Given the description of an element on the screen output the (x, y) to click on. 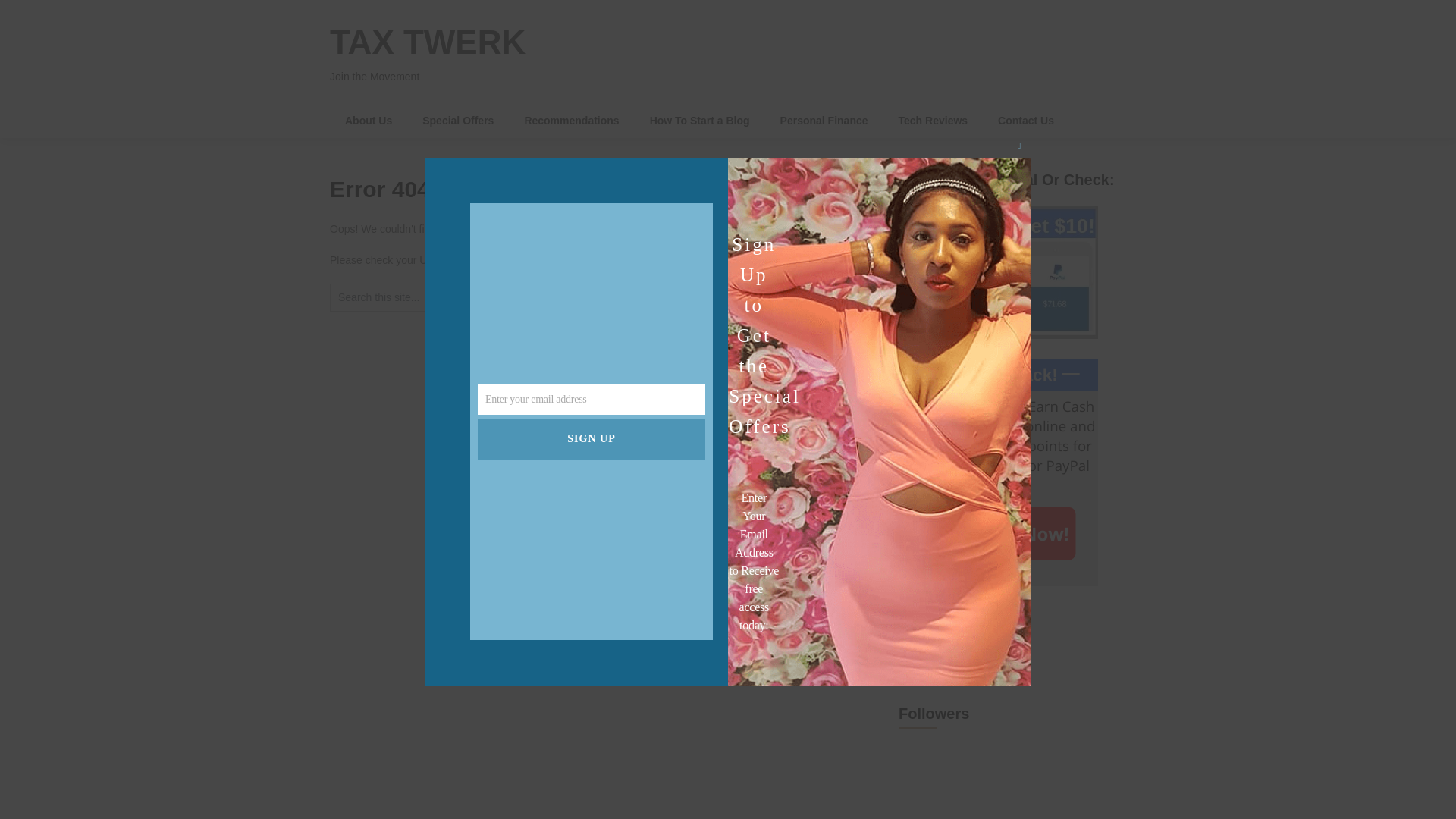
Contact Us (1025, 121)
TAX TWERK (427, 41)
About Us (368, 121)
Search this site... (520, 297)
Personal Finance (824, 121)
Search (792, 297)
Tech Reviews (933, 121)
Recommendations (570, 121)
Personal Finance (824, 121)
How To Start a Blog (699, 121)
How To Start a Blog (699, 121)
Recommendations (570, 121)
Best Selling Products (953, 644)
Search (792, 297)
Tech Reviews (933, 121)
